Given the description of an element on the screen output the (x, y) to click on. 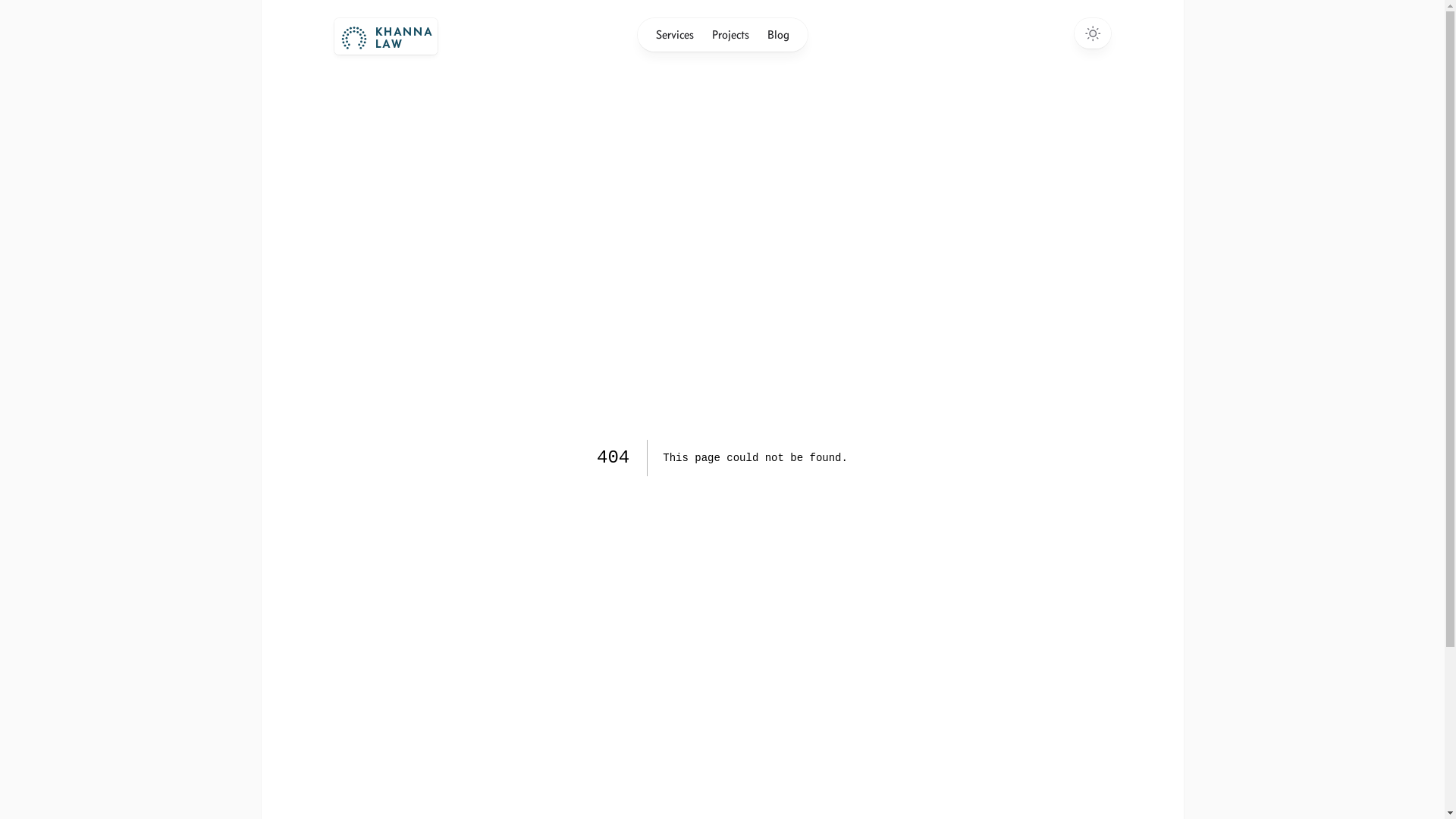
Blog Element type: text (778, 34)
KHANNA
LAW Element type: text (385, 37)
Projects Element type: text (729, 34)
Services Element type: text (674, 34)
